Given the description of an element on the screen output the (x, y) to click on. 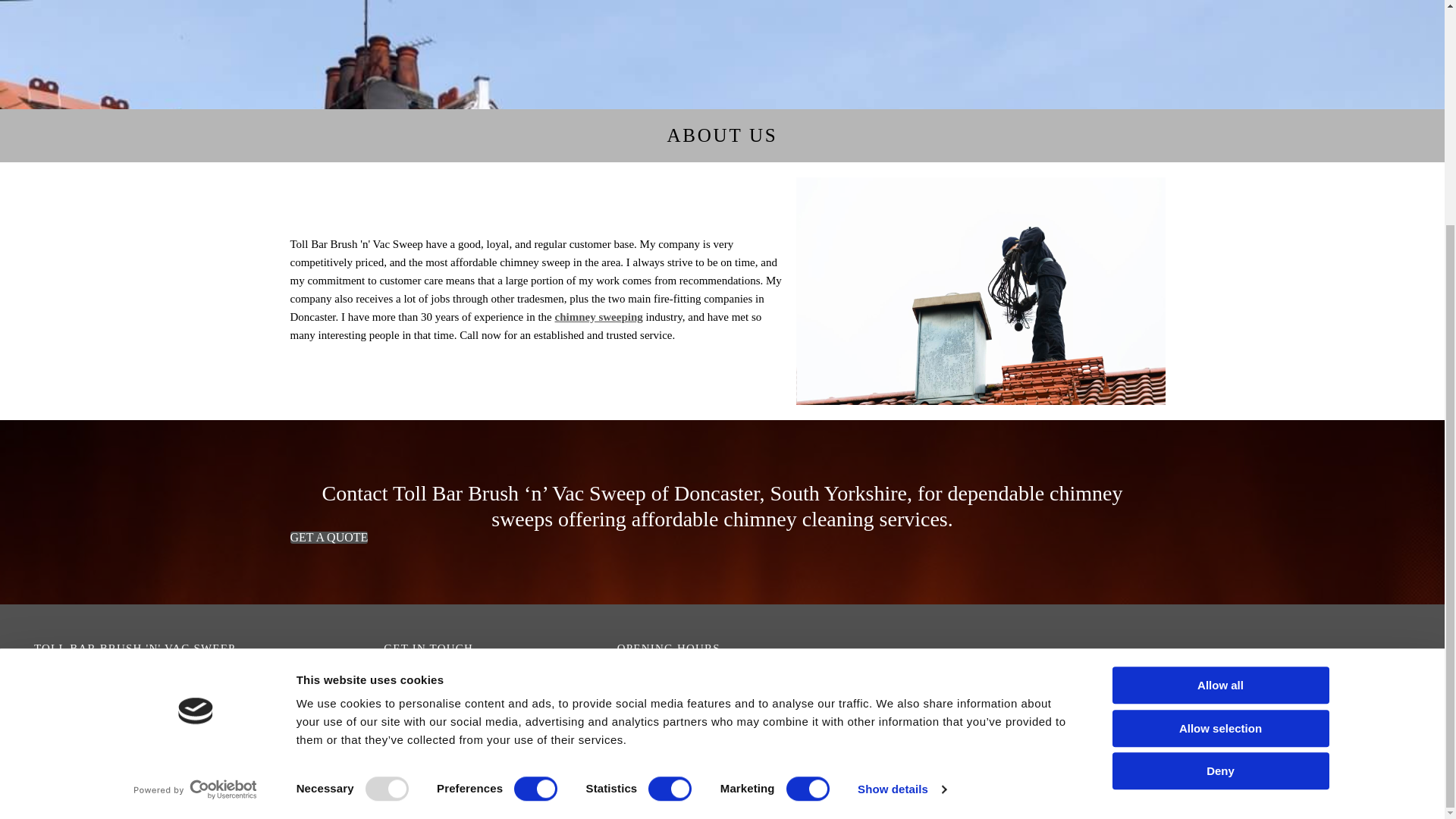
Deny (1219, 469)
Show details (900, 487)
Allow selection (1219, 426)
Allow all (1219, 383)
